Given the description of an element on the screen output the (x, y) to click on. 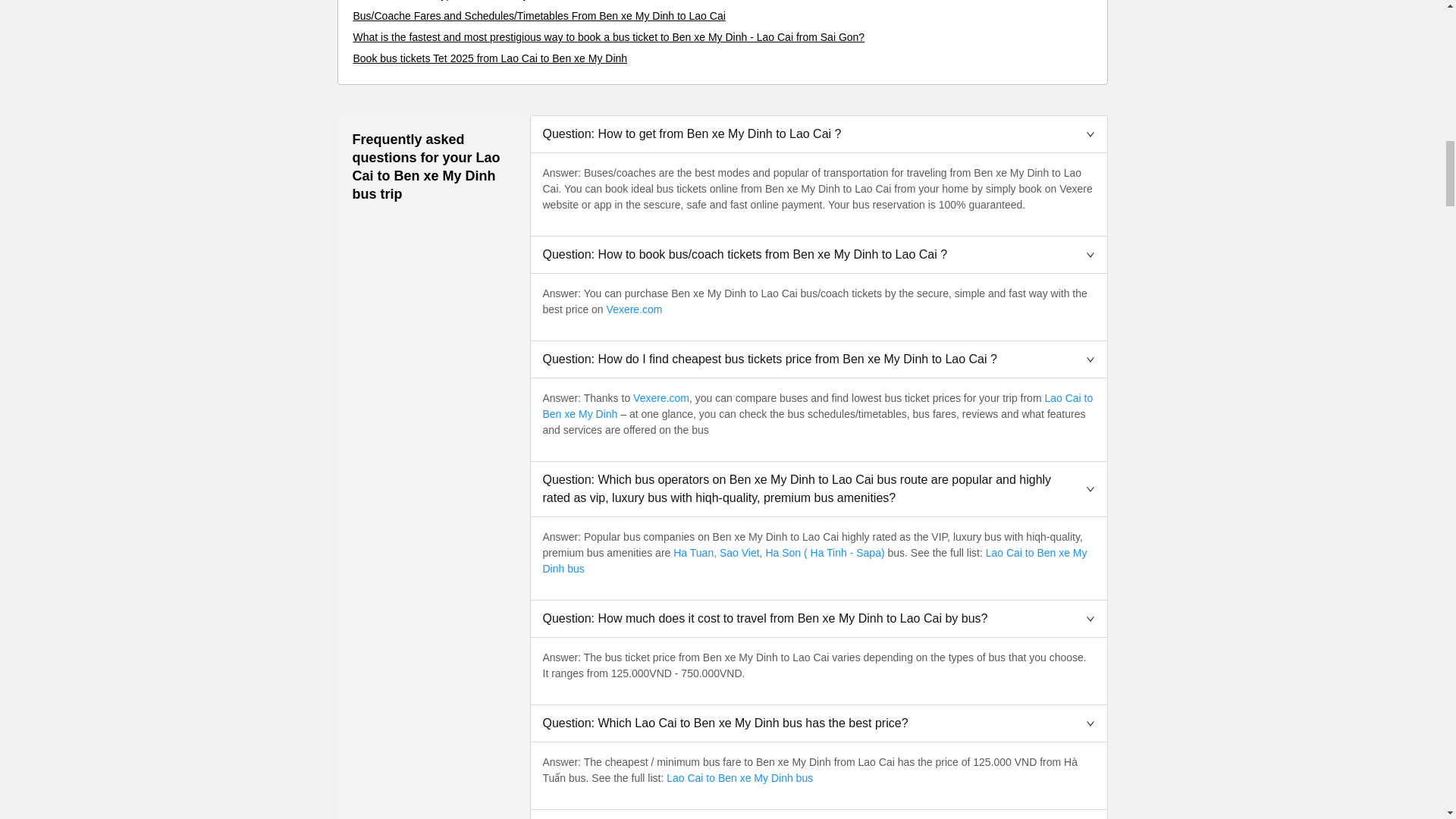
Book bus tickets Tet 2025 from Lao Cai to Ben xe My Dinh (490, 58)
Vexere.com (634, 309)
